Given the description of an element on the screen output the (x, y) to click on. 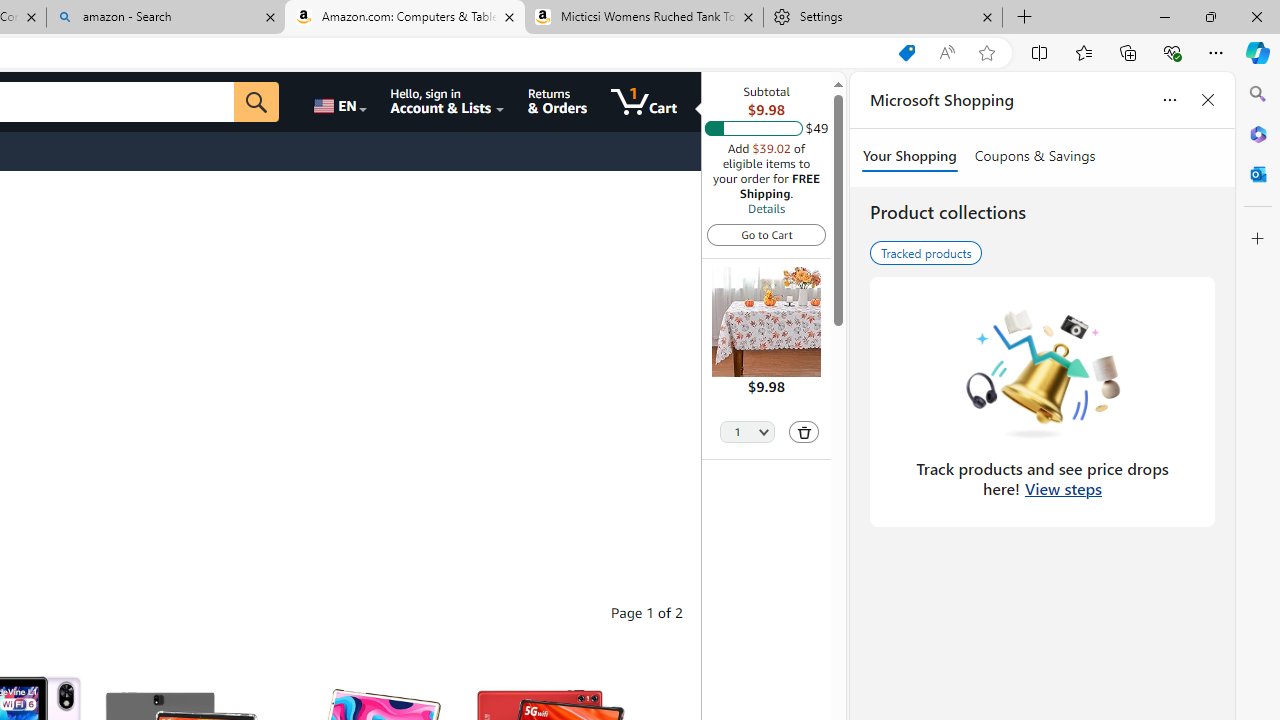
Delete (804, 431)
1 item in cart (643, 101)
Go to Cart (766, 234)
Returns & Orders (557, 101)
Quantity Selector (747, 430)
Delete (803, 431)
Go (257, 101)
Hello, sign in Account & Lists (447, 101)
